Given the description of an element on the screen output the (x, y) to click on. 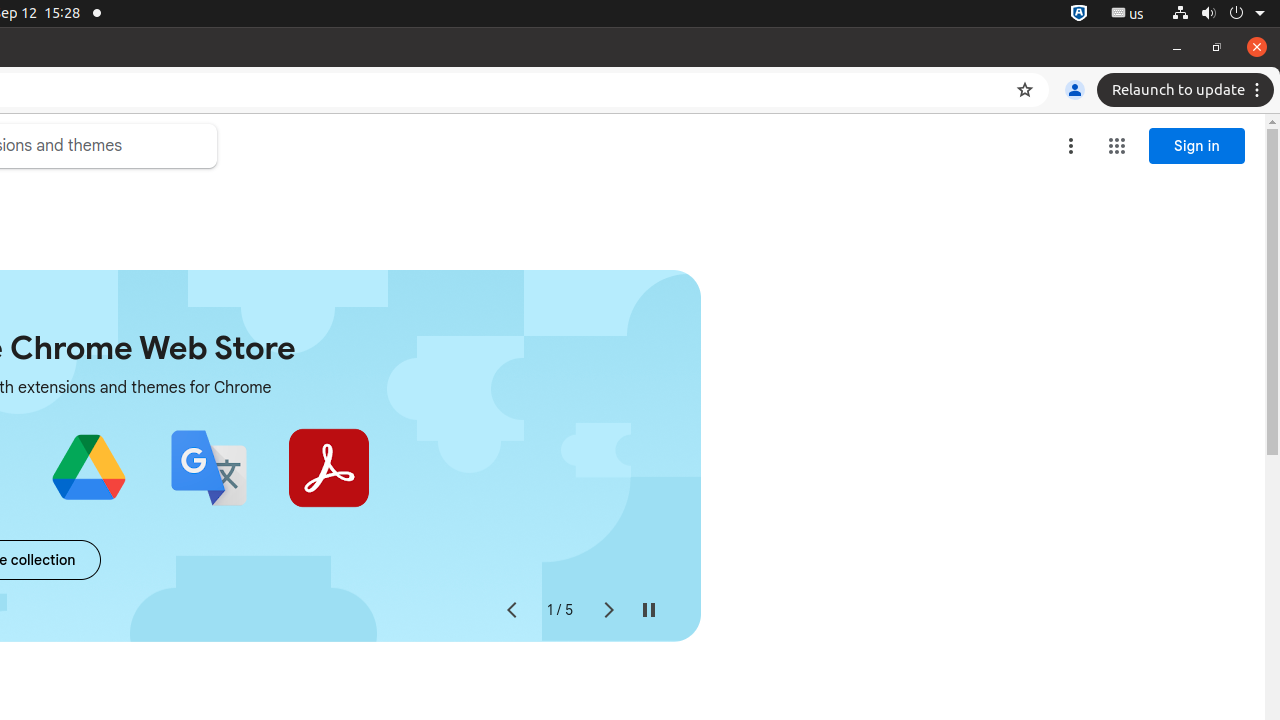
Relaunch to update Element type: push-button (1188, 90)
Bookmark this tab Element type: push-button (1025, 90)
More options menu Element type: push-button (1071, 145)
Previous slide Element type: push-button (511, 610)
Save to Google Drive Element type: link (88, 468)
